Given the description of an element on the screen output the (x, y) to click on. 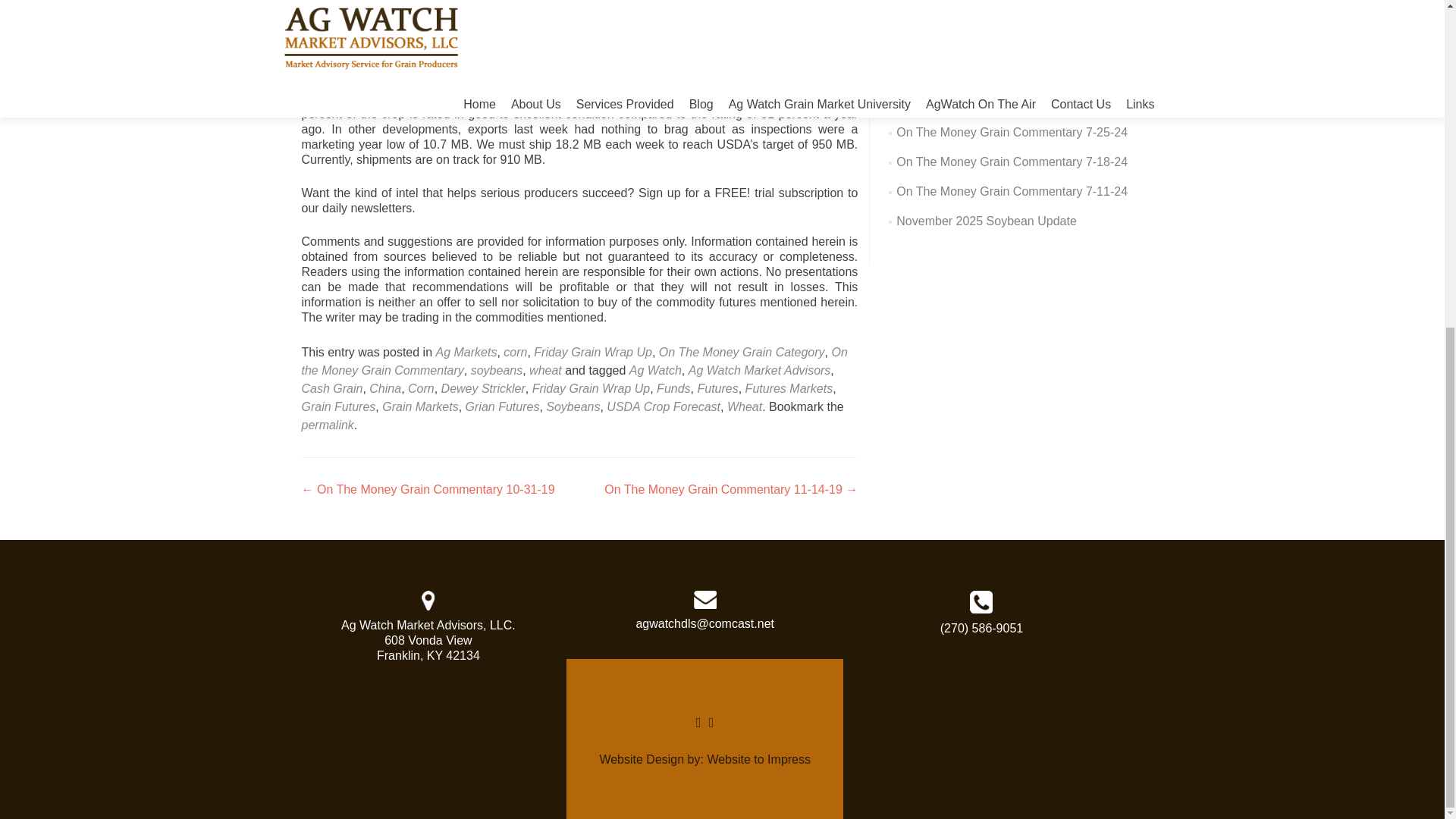
corn (515, 351)
USDA Crop Forecast (663, 406)
Ag Markets (465, 351)
Funds (673, 388)
permalink (327, 424)
Ag Watch (654, 369)
Search (1116, 10)
Search (1116, 10)
Grian Futures (502, 406)
soybeans (496, 369)
China (385, 388)
Soybeans (572, 406)
Friday Grain Wrap Up (593, 351)
On The Money Grain Category (742, 351)
Cash Grain (331, 388)
